Given the description of an element on the screen output the (x, y) to click on. 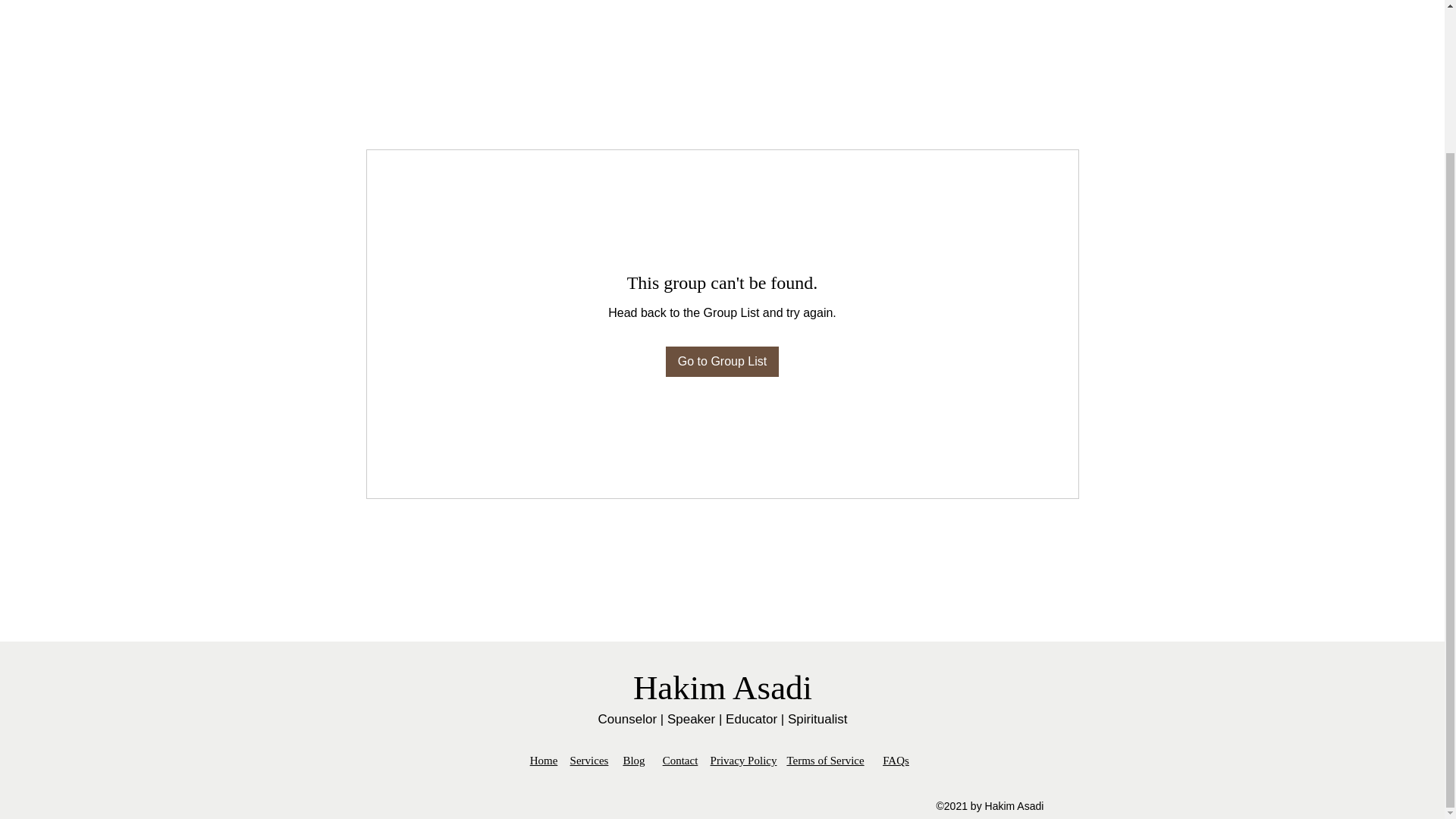
Hakim Asadi (722, 687)
Contact (680, 760)
Privacy Policy (743, 760)
FAQs (895, 760)
Home (543, 760)
Blog (634, 760)
Terms of Service (824, 760)
Go to Group List (721, 361)
Services (589, 760)
